Given the description of an element on the screen output the (x, y) to click on. 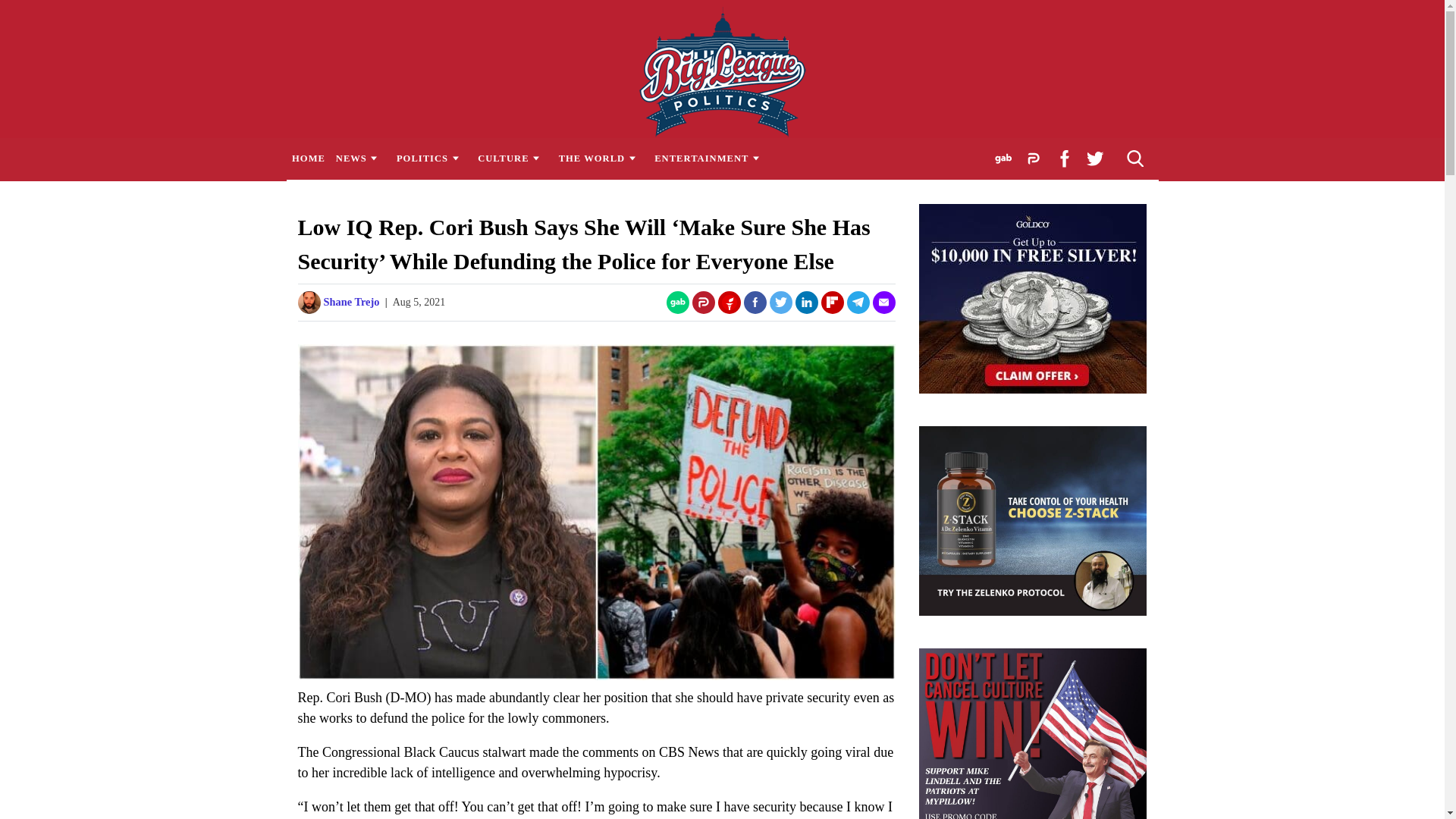
Posts by Shane Trejo (350, 302)
HOME (308, 158)
POLITICS (430, 158)
ENTERTAINMENT (711, 158)
CULTURE (512, 158)
THE WORLD (601, 158)
NEWS (360, 158)
